Given the description of an element on the screen output the (x, y) to click on. 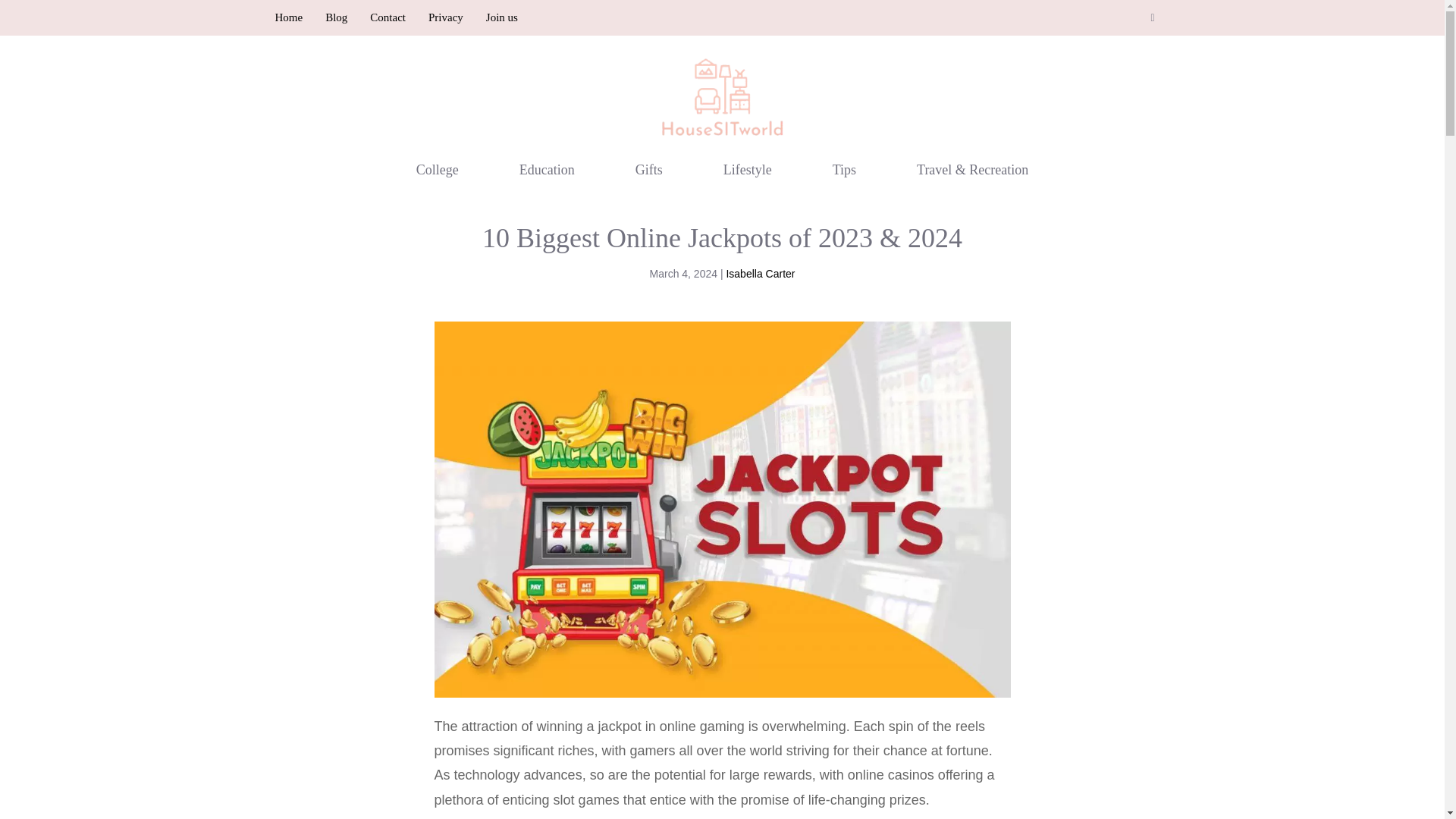
Contact (387, 17)
Instagram (1152, 18)
Isabella Carter (759, 273)
Education (547, 169)
Tips (844, 169)
Join us (502, 17)
College (437, 169)
Gifts (649, 169)
View all posts by Isabella Carter (759, 273)
Home (288, 17)
